Given the description of an element on the screen output the (x, y) to click on. 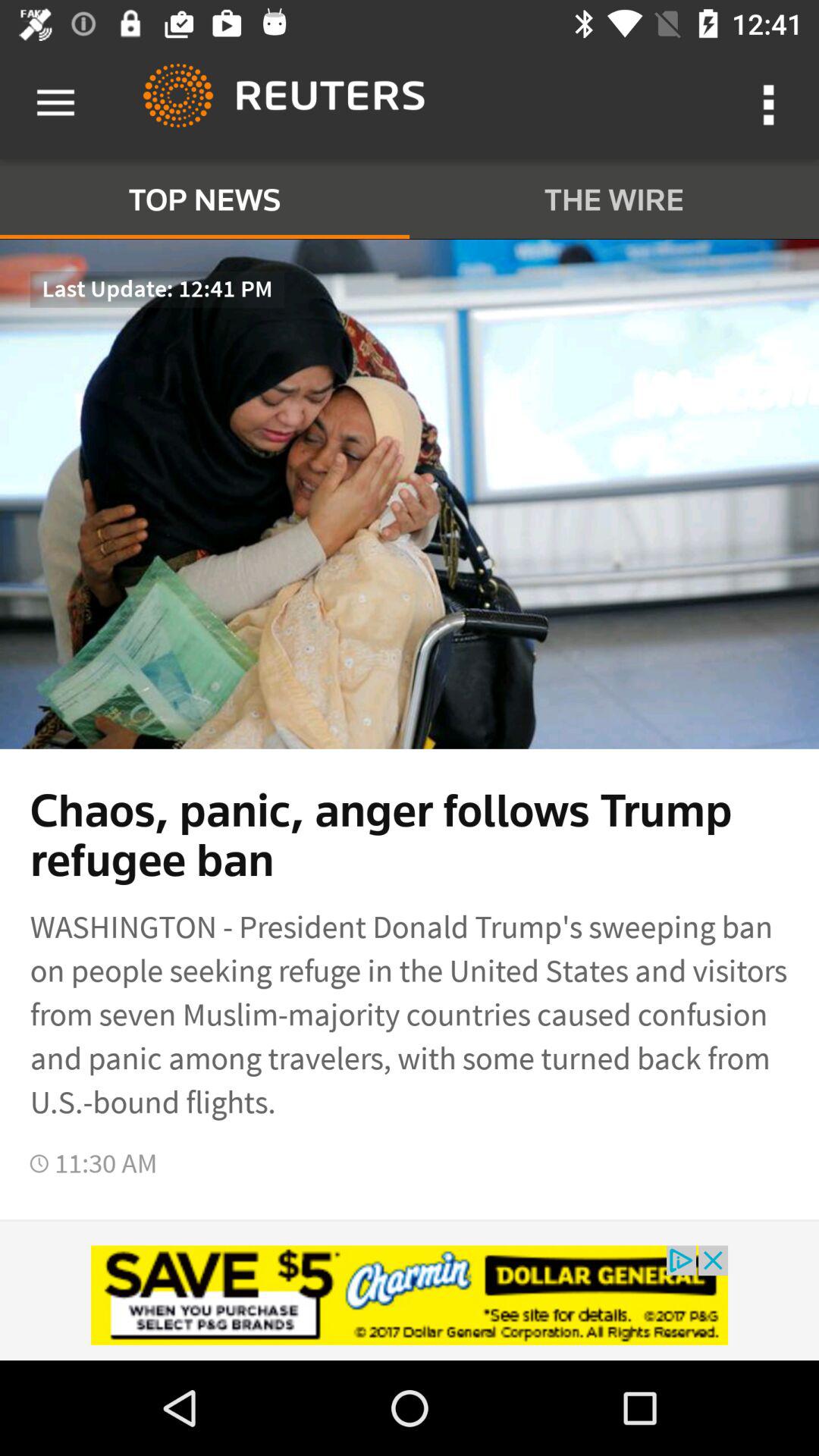
open advertisement (409, 1295)
